Given the description of an element on the screen output the (x, y) to click on. 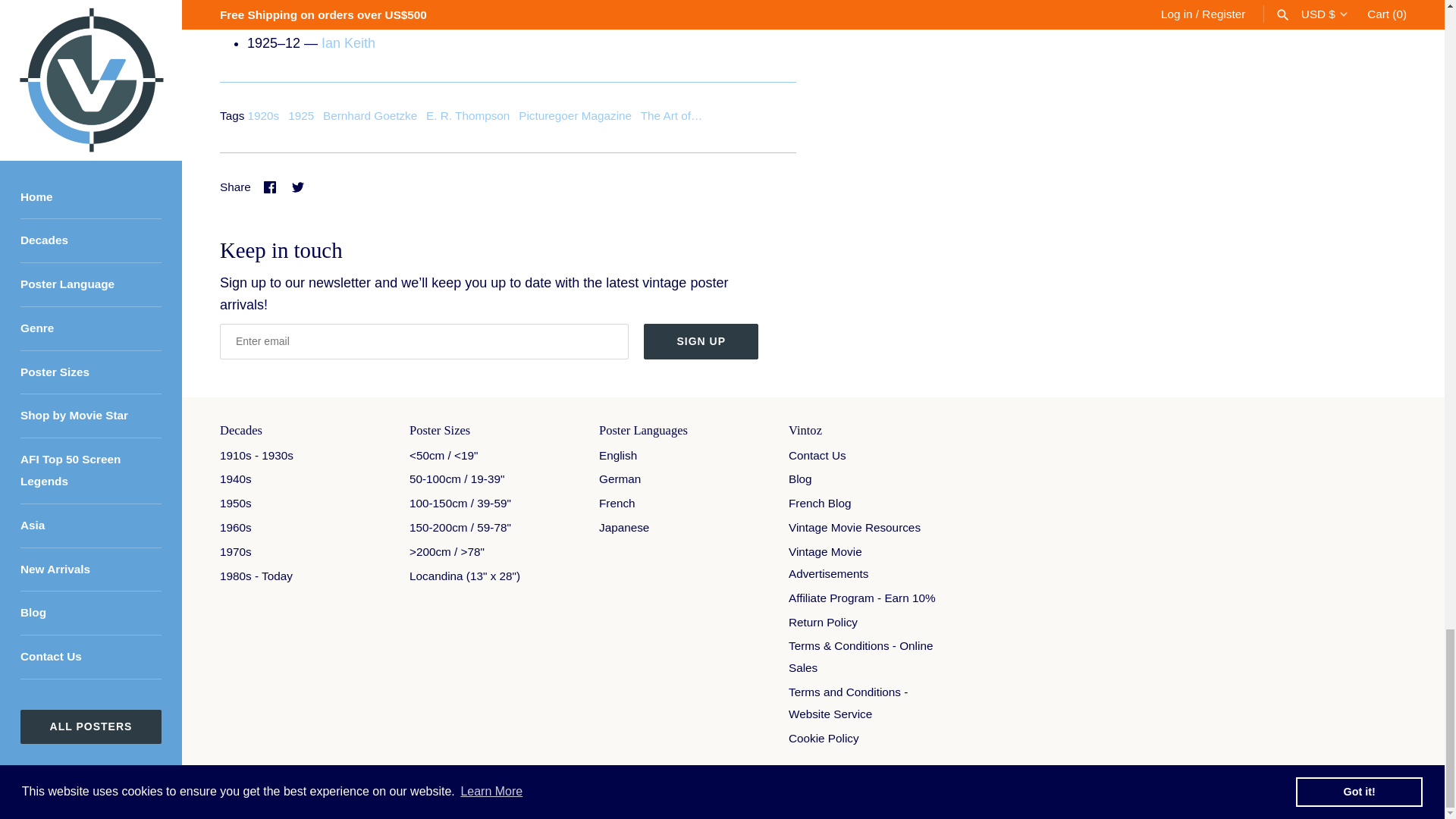
PayPal (1286, 789)
Apple Pay (1181, 789)
Mastercard (1251, 789)
Twitter (296, 186)
Show articles tagged E. R. Thompson (467, 115)
Shop Pay (1321, 789)
Union Pay (1355, 789)
Show articles tagged 1925 (301, 115)
Facebook (269, 186)
Show articles tagged Bernhard Goetzke (369, 115)
Google Pay (1216, 789)
American Express (1145, 789)
Visa (1390, 789)
Show articles tagged 1920s (263, 115)
